Given the description of an element on the screen output the (x, y) to click on. 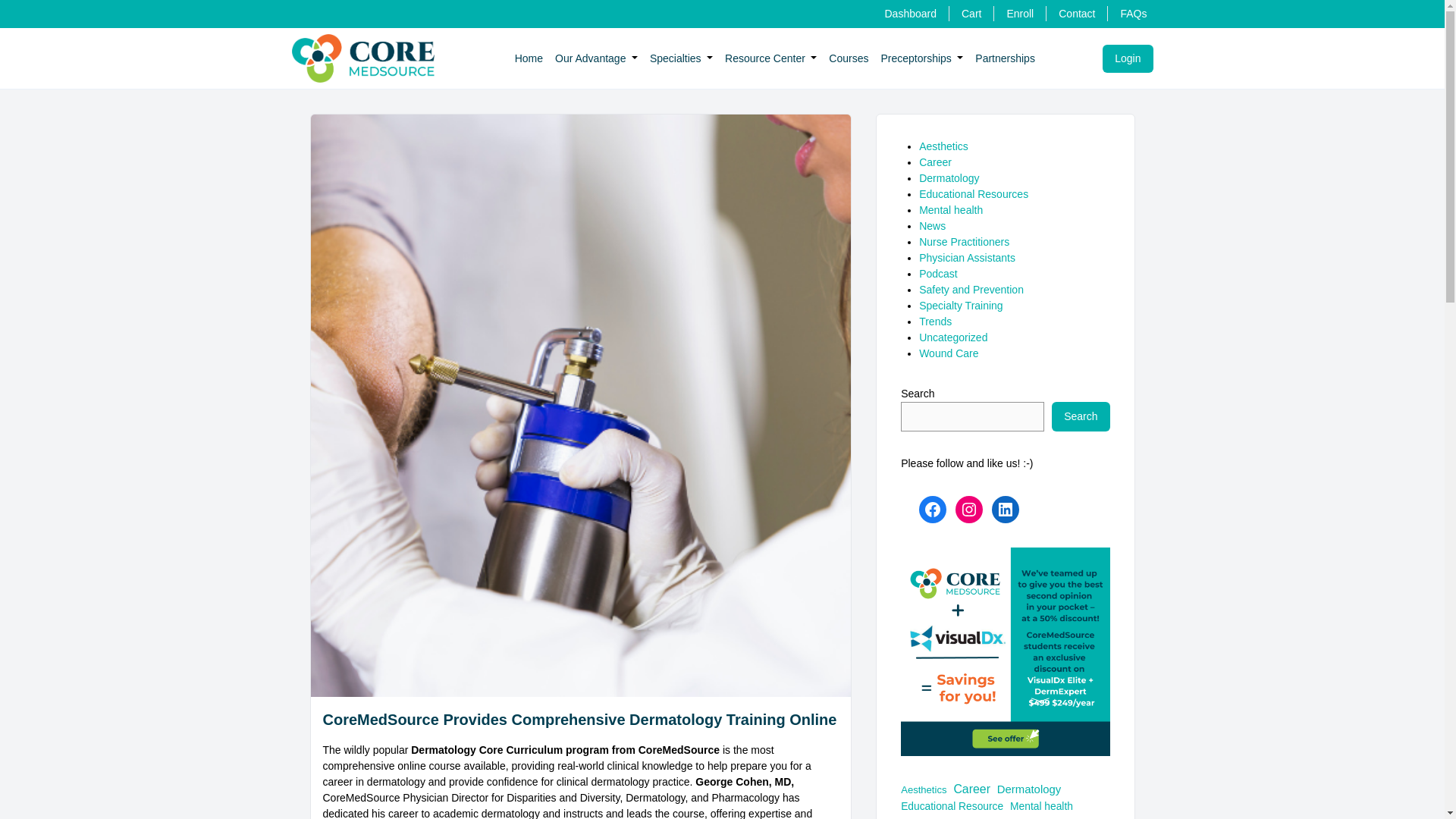
Home (529, 58)
Login (1127, 58)
FAQs (1133, 13)
Preceptorships (915, 58)
Cart (970, 13)
Partnerships (1005, 58)
Resource Center (765, 58)
Dashboard (909, 13)
Our Advantage (590, 58)
Specialties (675, 58)
Enroll (1019, 13)
Contact (1076, 13)
Courses (847, 58)
